Given the description of an element on the screen output the (x, y) to click on. 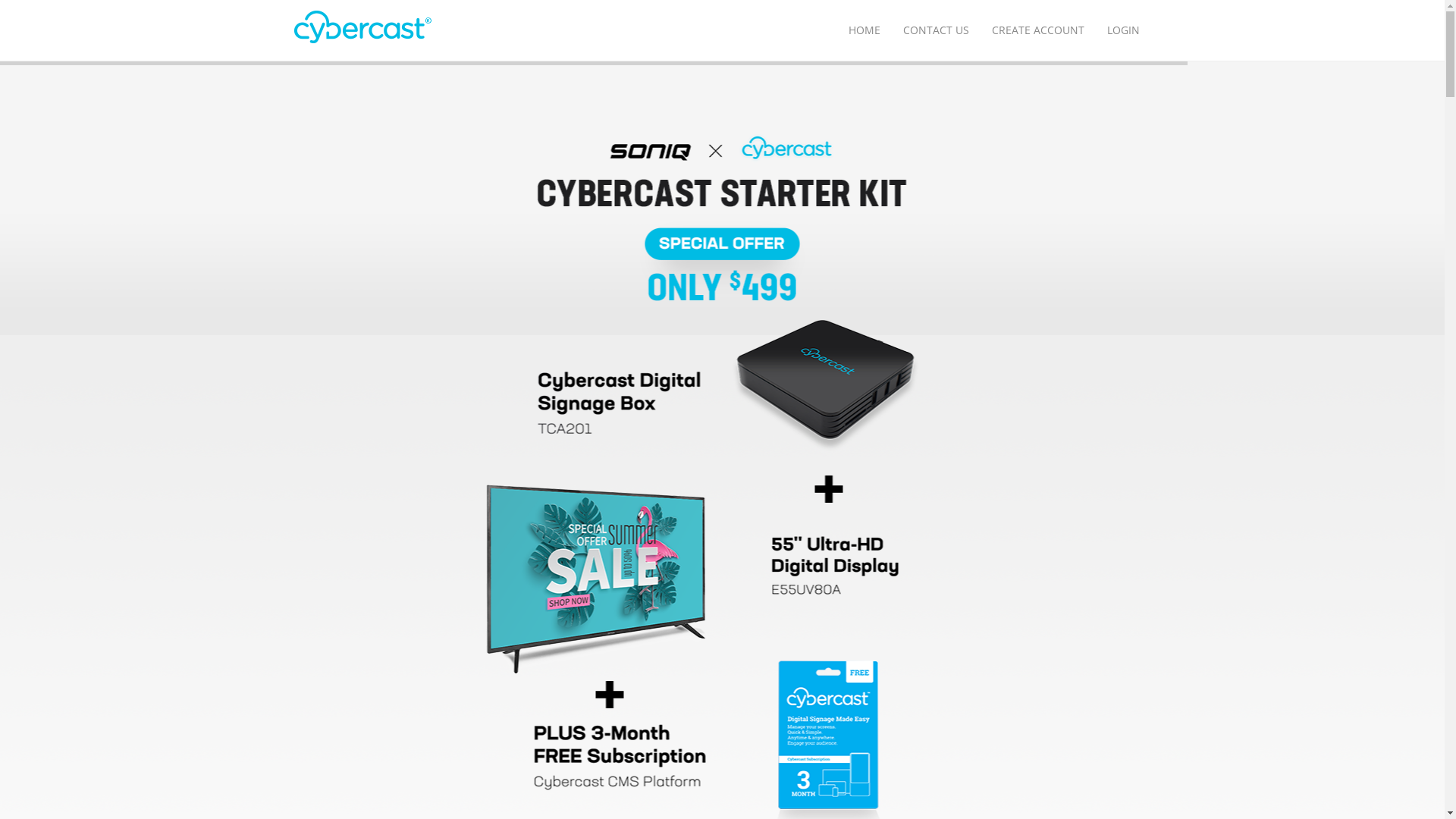
Cybercast Element type: hover (363, 27)
CONTACT US Element type: text (935, 30)
CREATE ACCOUNT Element type: text (1037, 30)
LOGIN Element type: text (1122, 30)
HOME Element type: text (864, 30)
